Given the description of an element on the screen output the (x, y) to click on. 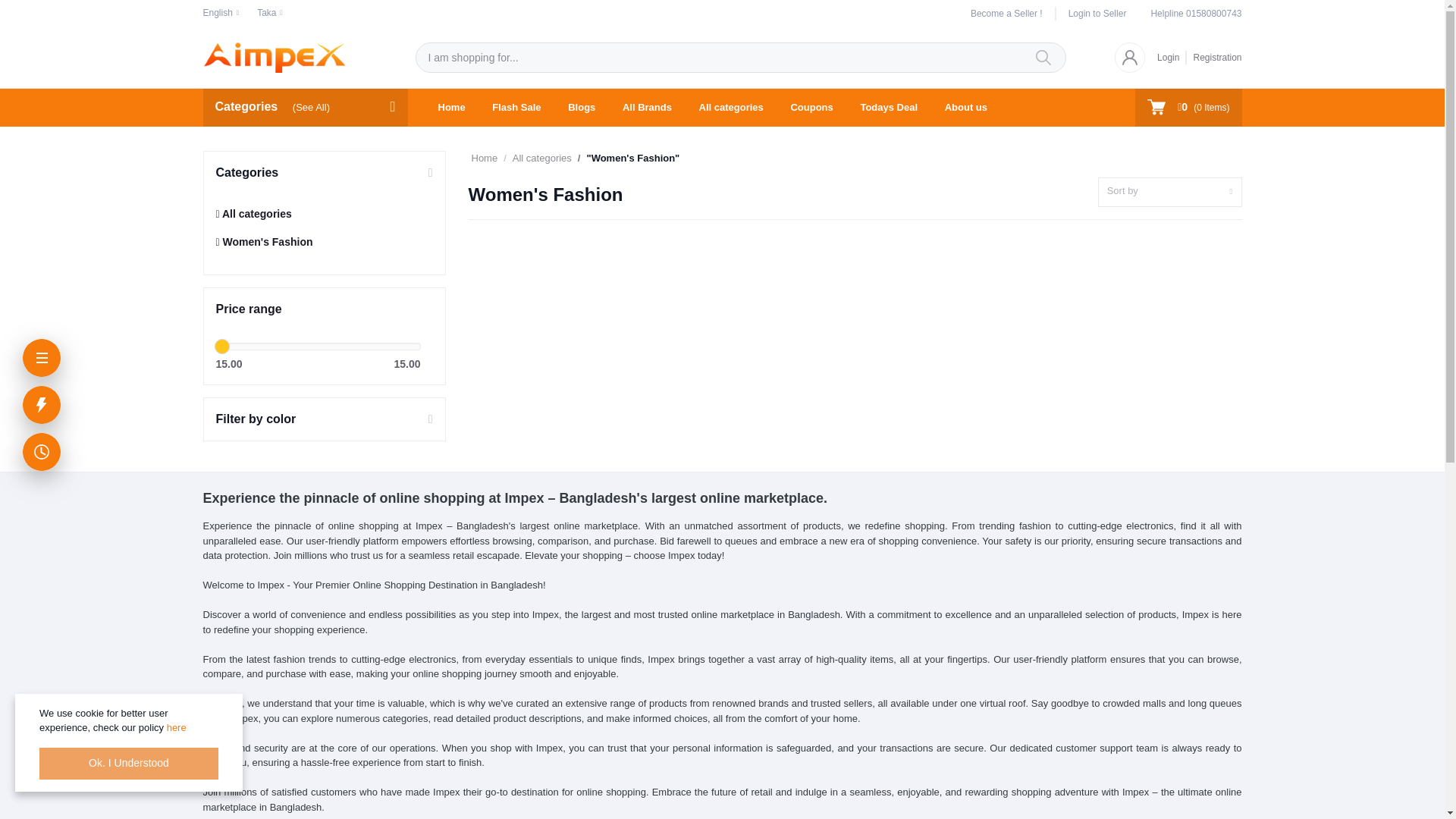
Helpline 01580800743 (1195, 13)
All categories (731, 107)
Login to Seller (1091, 13)
Login (1171, 56)
All Brands (647, 107)
Coupons (810, 107)
Sort by (1169, 192)
Become a Seller ! (1014, 13)
Registration (1213, 56)
English (221, 12)
Taka (269, 12)
Flash Sale (516, 107)
Home (451, 107)
Cart (1188, 106)
